Given the description of an element on the screen output the (x, y) to click on. 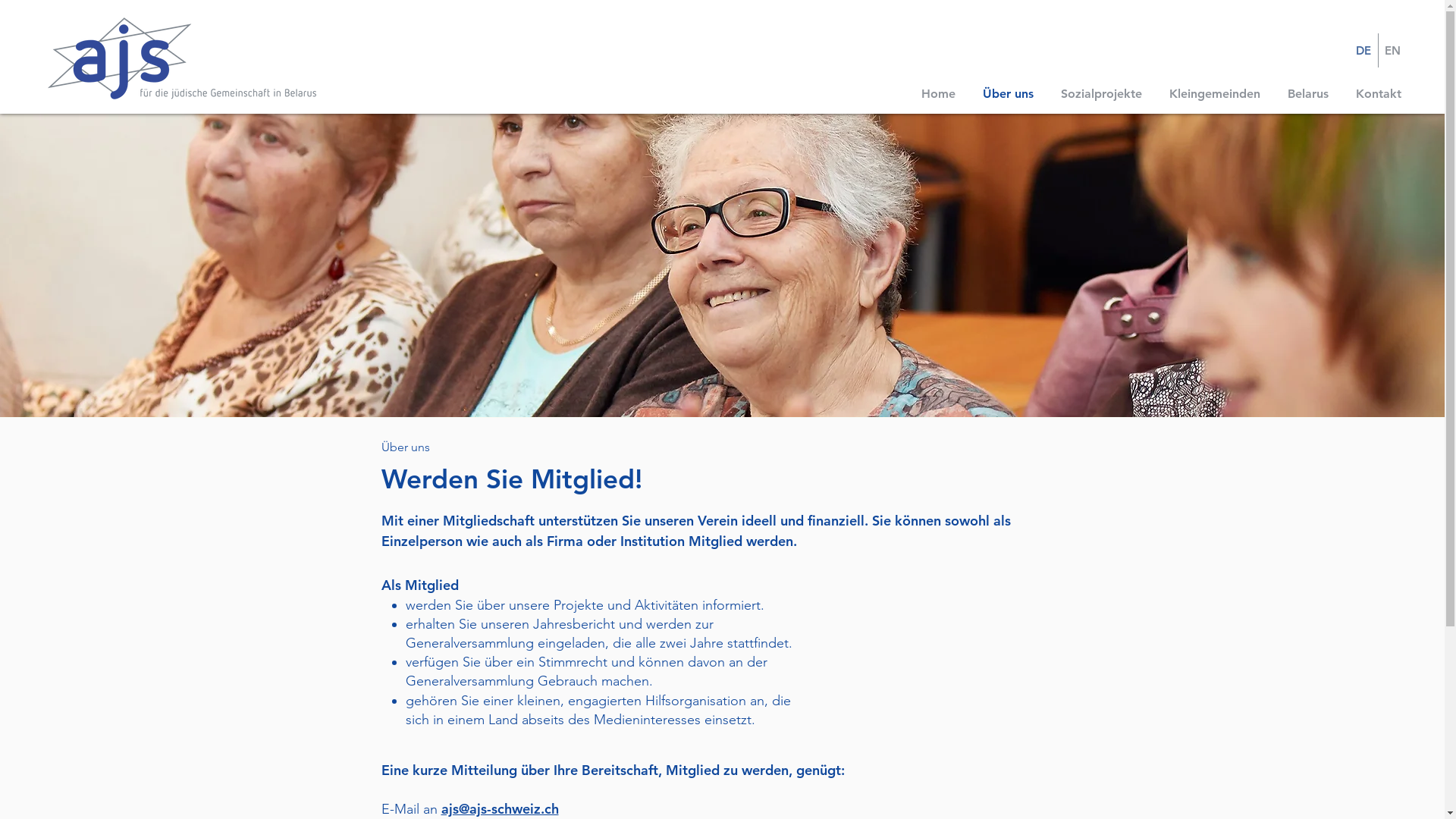
ajs@ajs-schweiz.ch Element type: text (499, 808)
EN Element type: text (1391, 50)
Home Element type: text (938, 93)
Kleingemeinden Element type: text (1214, 93)
Belarus Element type: text (1308, 93)
Kontakt Element type: text (1378, 93)
DE Element type: text (1363, 50)
Sozialprojekte Element type: text (1101, 93)
